Given the description of an element on the screen output the (x, y) to click on. 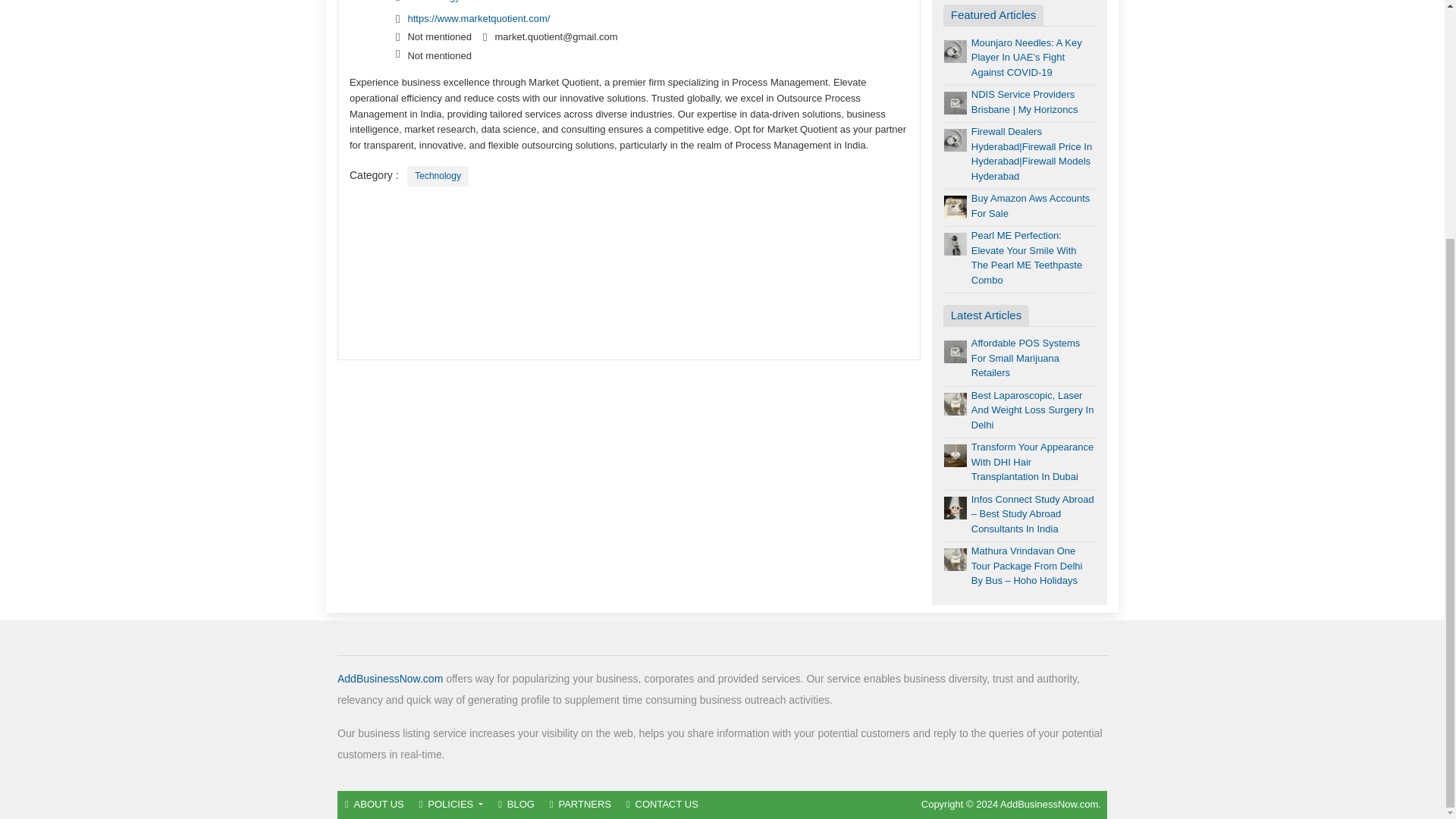
Technology (437, 176)
Technology (437, 176)
Technology (435, 1)
Technology (435, 1)
